Given the description of an element on the screen output the (x, y) to click on. 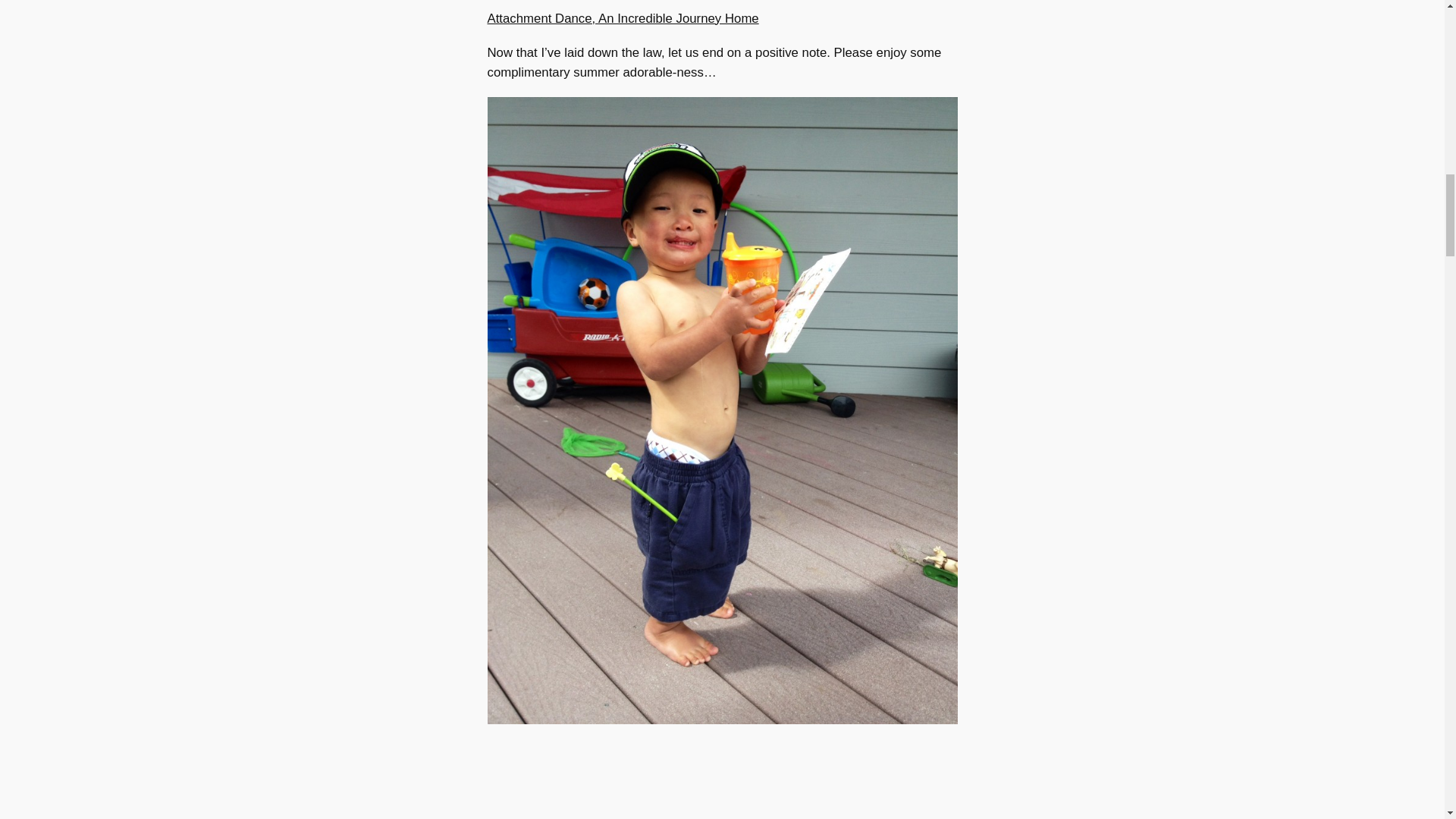
Attachment Dance, An Incredible Journey Home (622, 17)
